Given the description of an element on the screen output the (x, y) to click on. 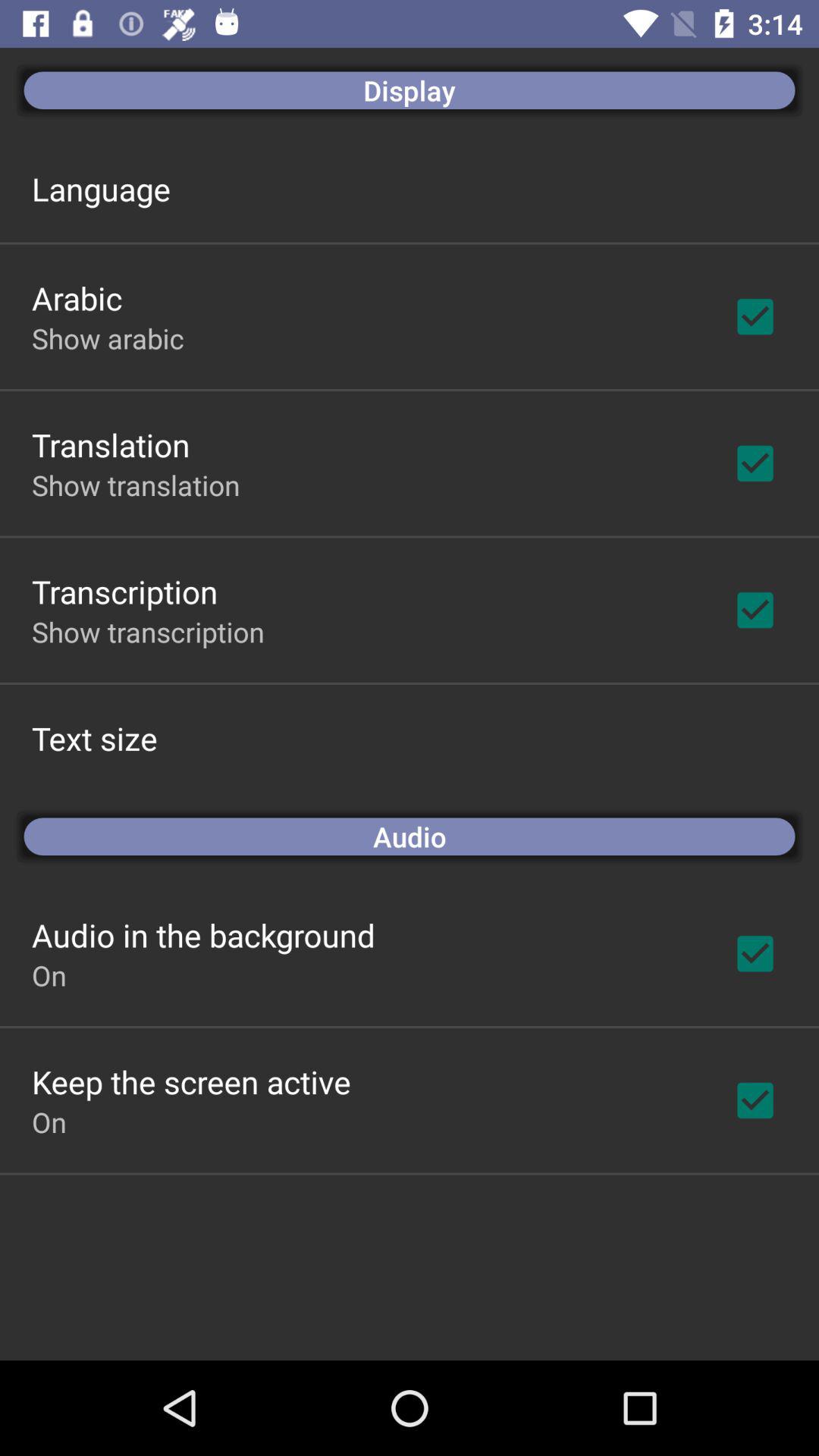
open the show transcription (147, 631)
